Given the description of an element on the screen output the (x, y) to click on. 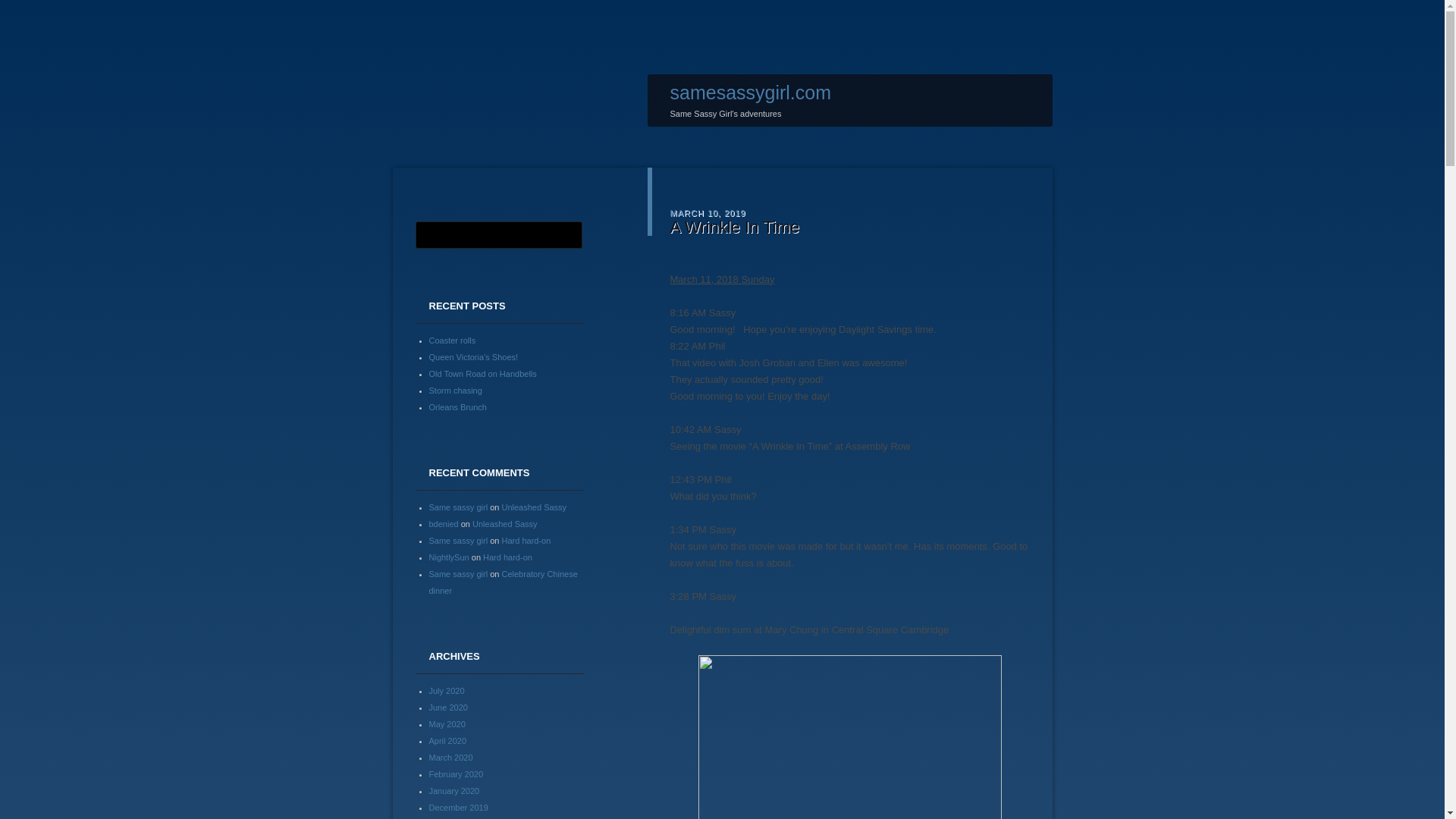
Search (21, 7)
May 2020 (447, 723)
Same sassy girl (458, 506)
1:00 pm (707, 212)
Hard hard-on (526, 539)
Hard hard-on (507, 556)
Unleashed Sassy (534, 506)
MARCH 10, 2019 (707, 212)
Storm chasing (455, 388)
Orleans Brunch (457, 406)
